Given the description of an element on the screen output the (x, y) to click on. 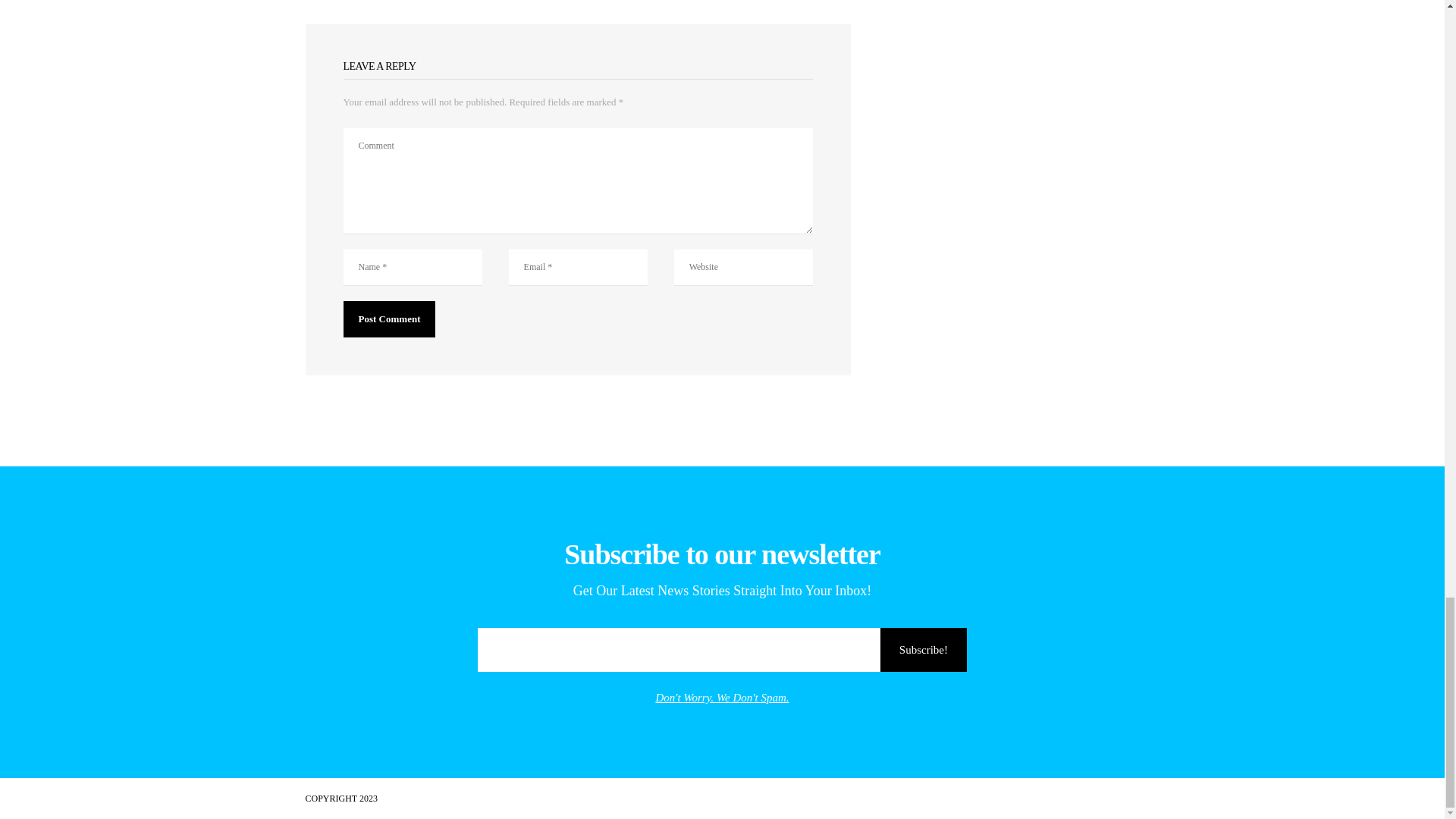
Post Comment (388, 319)
Post Comment (388, 319)
Email (721, 649)
Subscribe! (923, 649)
